Given the description of an element on the screen output the (x, y) to click on. 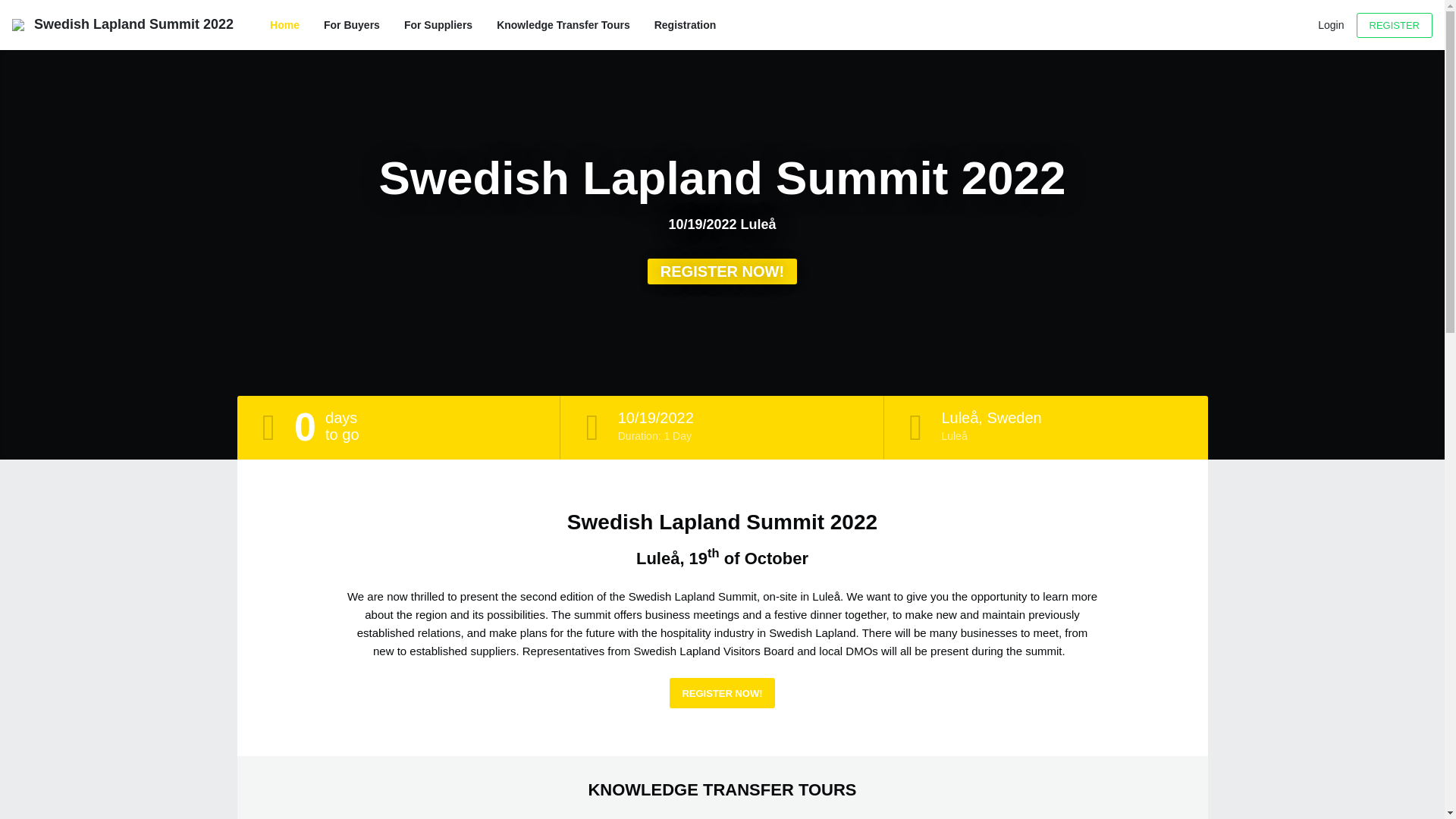
Google Maps (990, 417)
For Suppliers (437, 24)
Date (655, 417)
Home (284, 24)
Knowledge Transfer Tours (563, 24)
REGISTER NOW! (721, 693)
Login (1330, 24)
REGISTER (1394, 24)
Registration (684, 24)
For Buyers (351, 24)
